Given the description of an element on the screen output the (x, y) to click on. 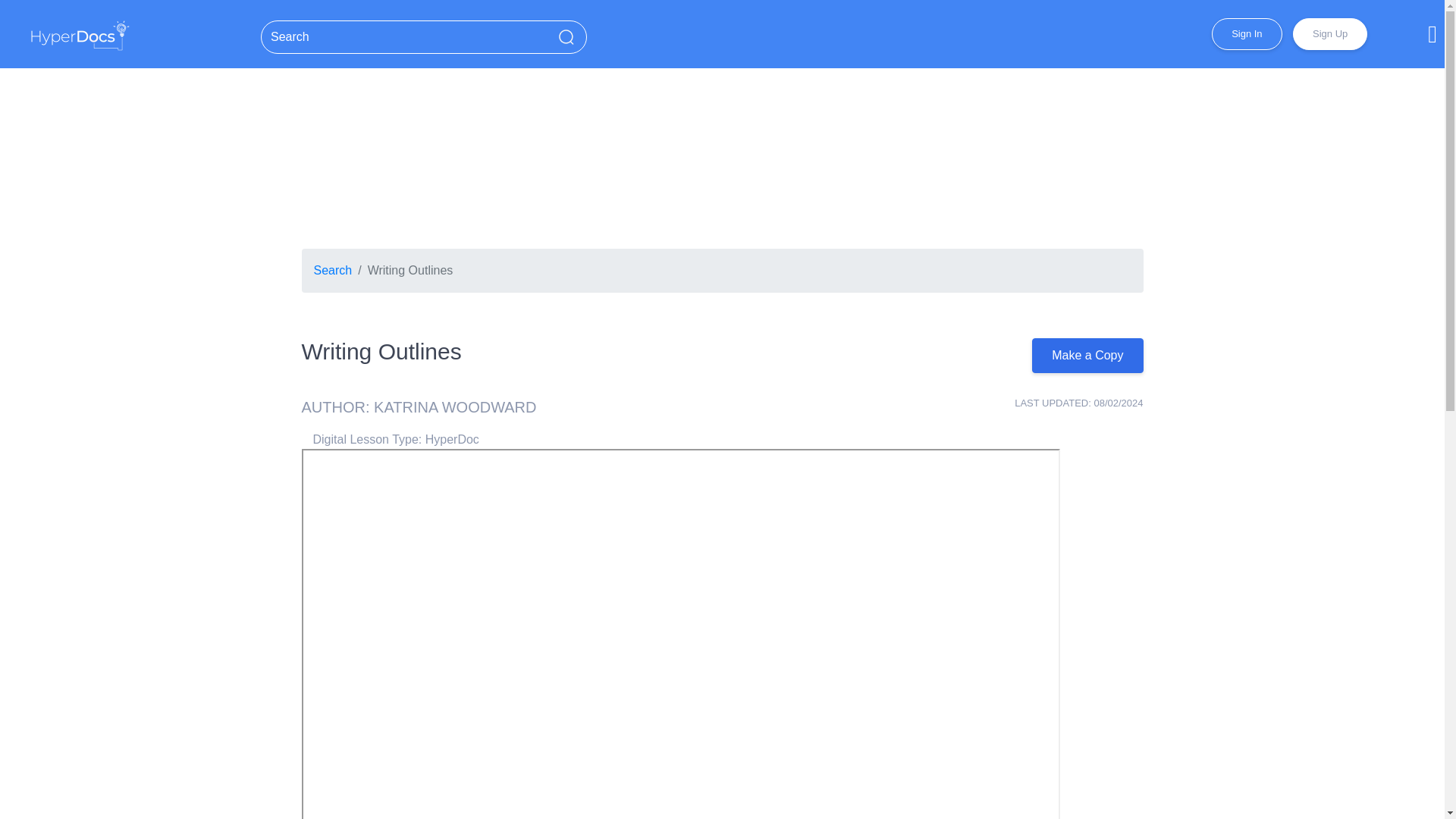
Make a Copy (1087, 355)
Sign In (1246, 33)
AUTHOR: KATRINA WOODWARD (419, 406)
Search (333, 269)
Sign Up (1329, 33)
